Given the description of an element on the screen output the (x, y) to click on. 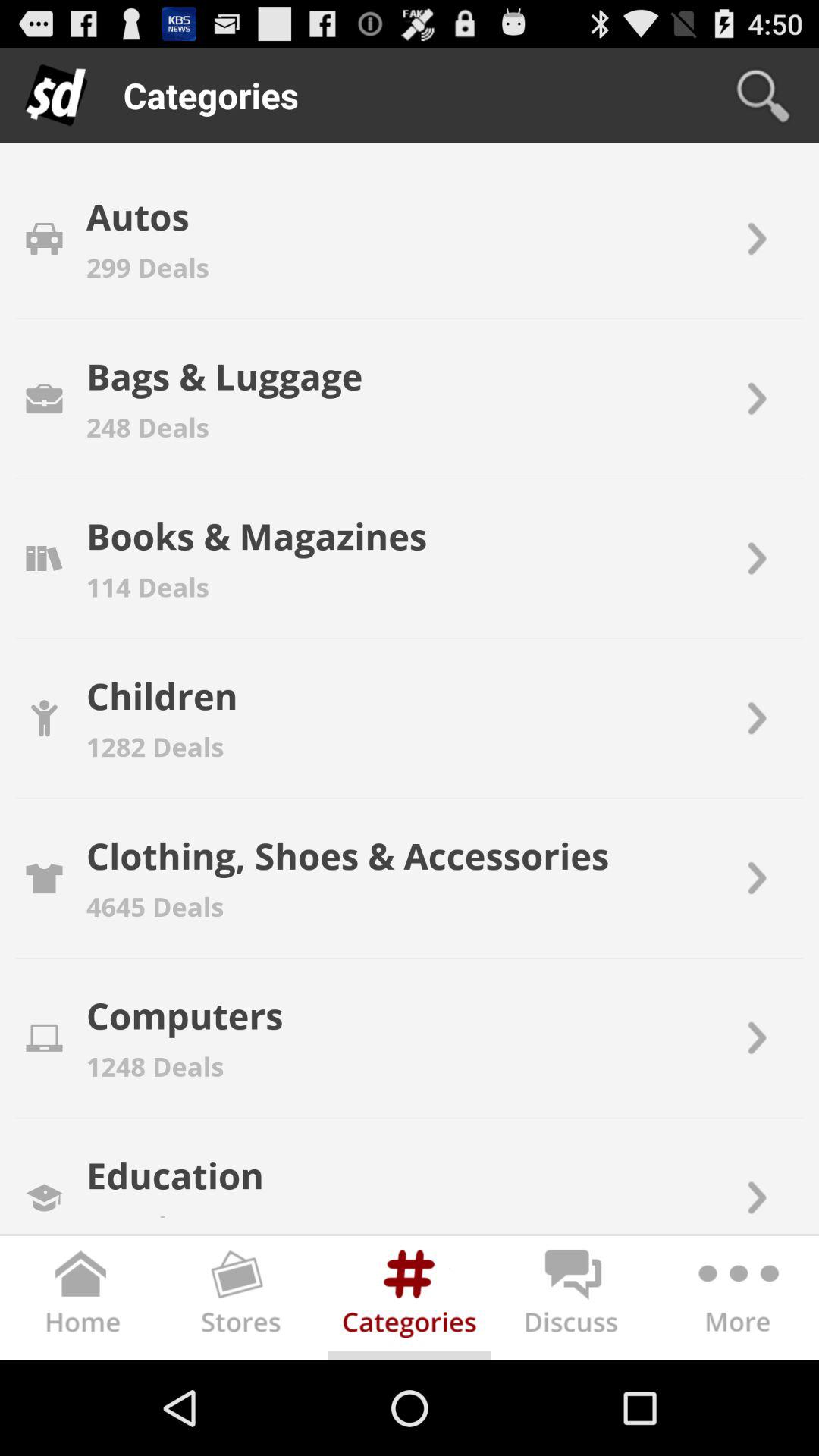
jump until the clothing, shoes & accessories item (347, 855)
